Given the description of an element on the screen output the (x, y) to click on. 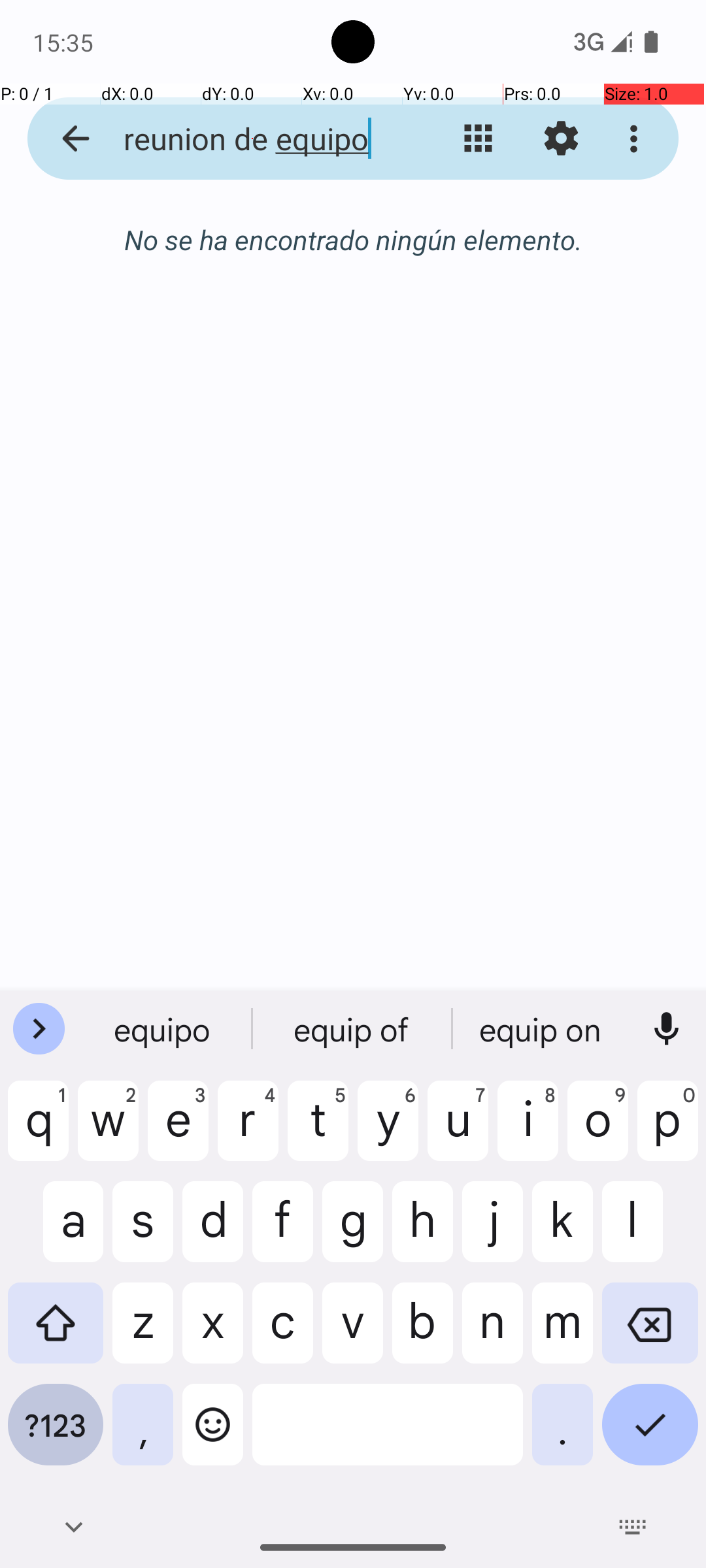
reunion de equipo Element type: android.widget.EditText (252, 138)
No se ha encontrado ningún elemento. Element type: android.widget.TextView (353, 239)
equip Element type: android.widget.FrameLayout (163, 1028)
equipo Element type: android.widget.FrameLayout (352, 1028)
equipment Element type: android.widget.FrameLayout (541, 1028)
